Given the description of an element on the screen output the (x, y) to click on. 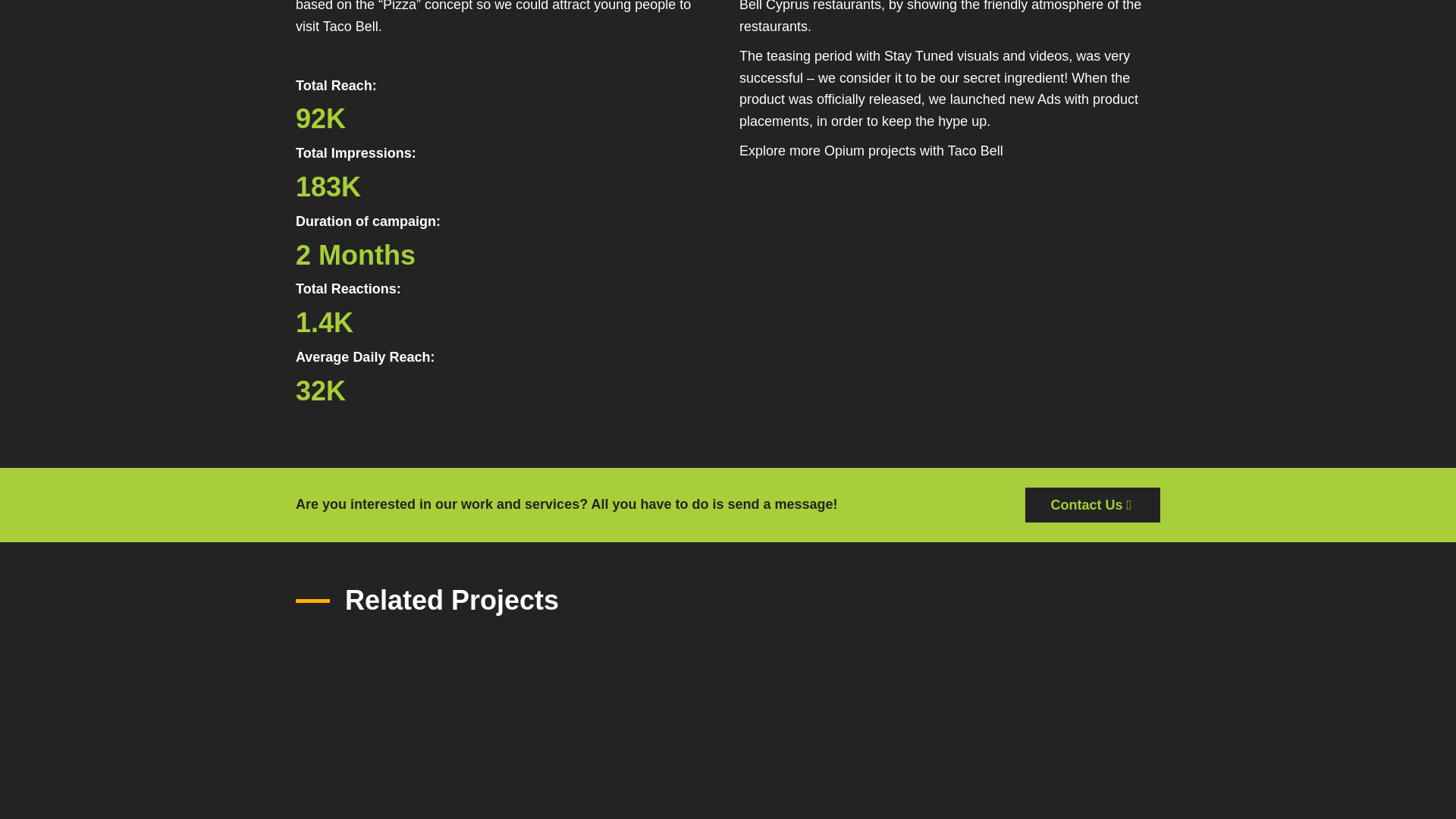
Contact Us (1092, 504)
